Given the description of an element on the screen output the (x, y) to click on. 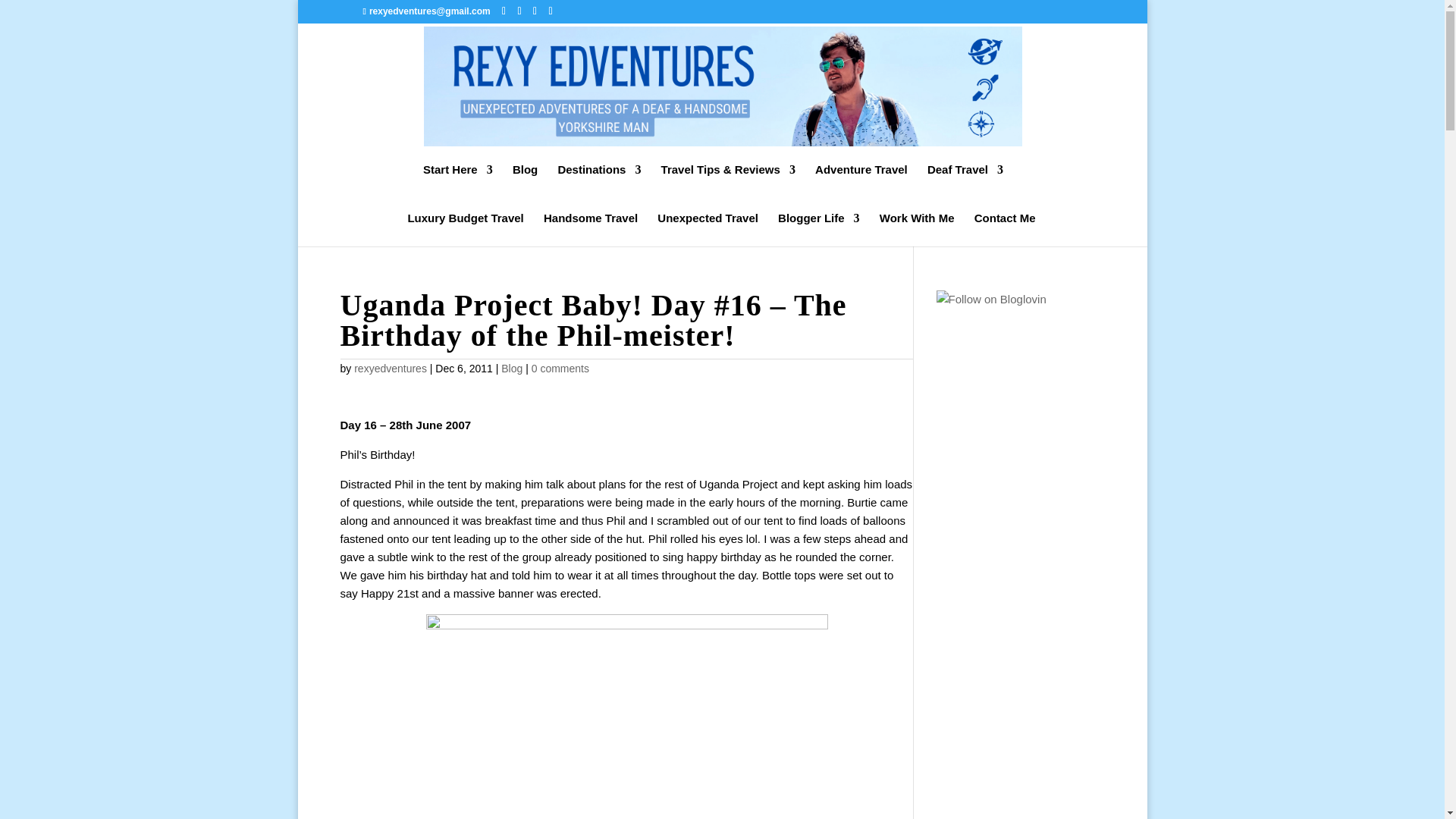
Meeting his new Pet Rock (627, 716)
Posts by rexyedventures (389, 368)
Start Here (458, 181)
Destinations (598, 181)
